Given the description of an element on the screen output the (x, y) to click on. 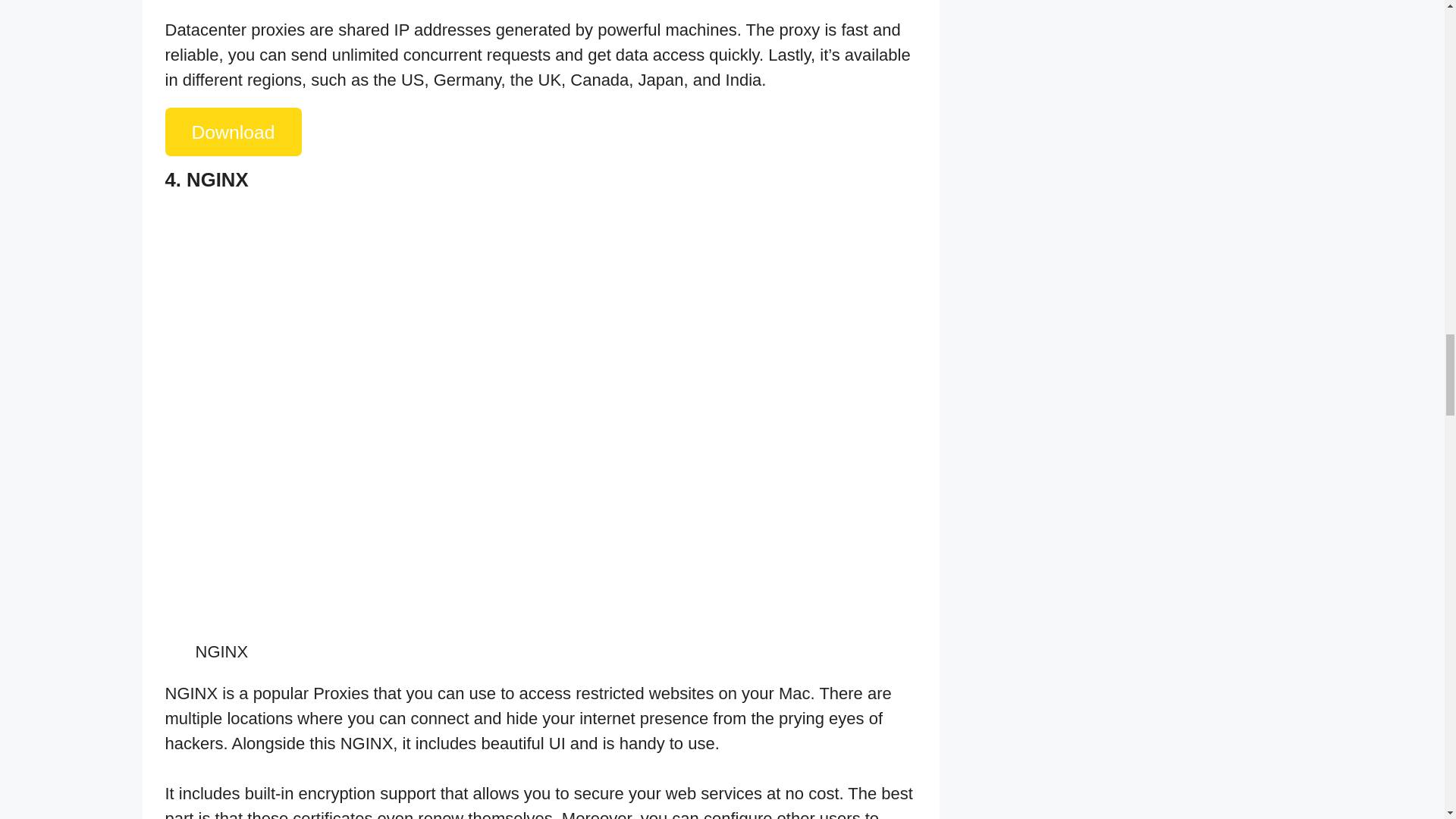
Download (233, 131)
